Given the description of an element on the screen output the (x, y) to click on. 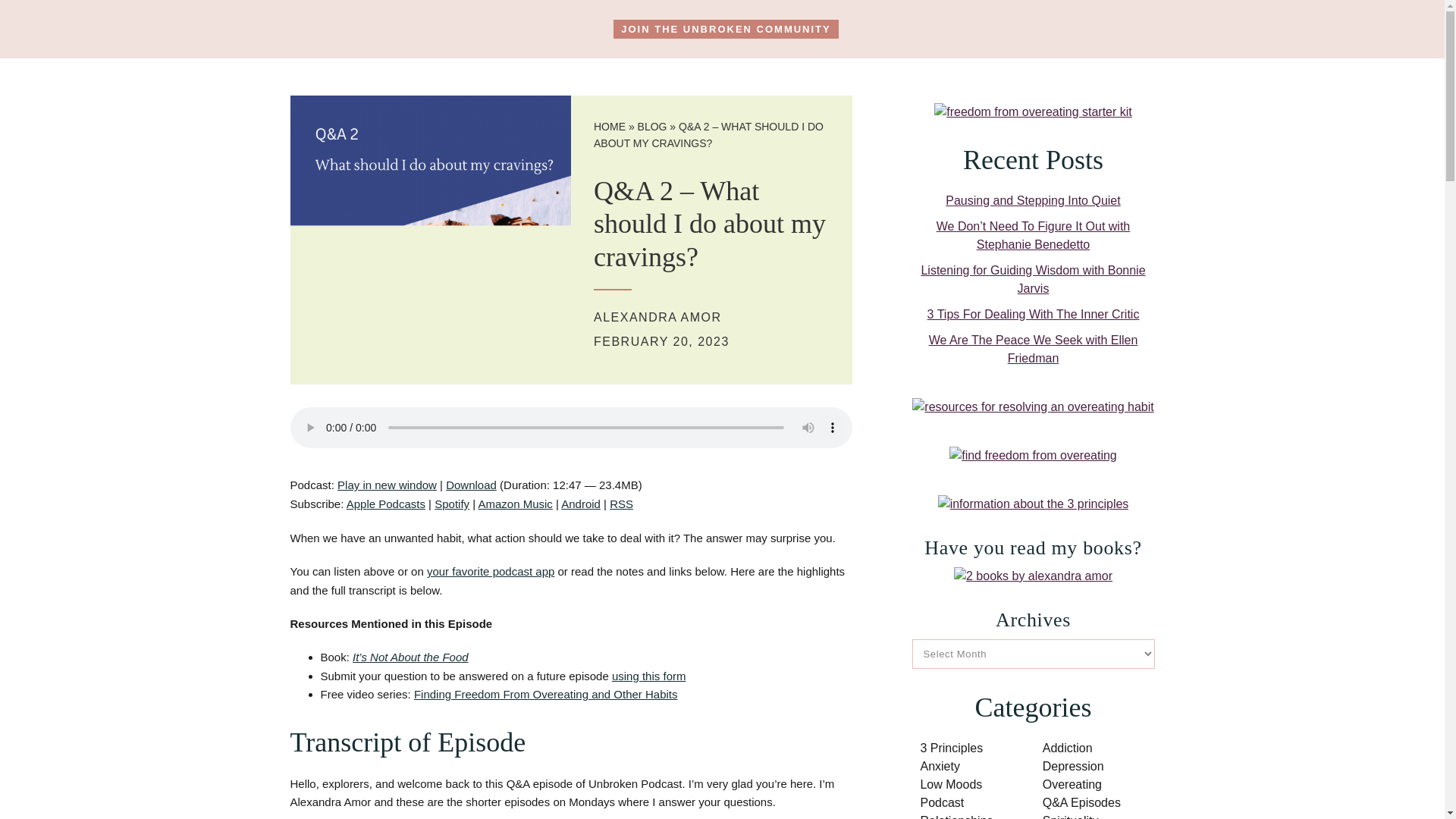
ABOUT (367, 35)
Subscribe on Apple Podcasts (385, 503)
CONTACT (1071, 37)
BLOG (651, 126)
Subscribe on Amazon Music (514, 503)
Subscribe via RSS (621, 503)
START HERE! (455, 35)
RESOURCES (978, 37)
Subscribe on Android (579, 503)
Subscribe on Spotify (450, 503)
